Given the description of an element on the screen output the (x, y) to click on. 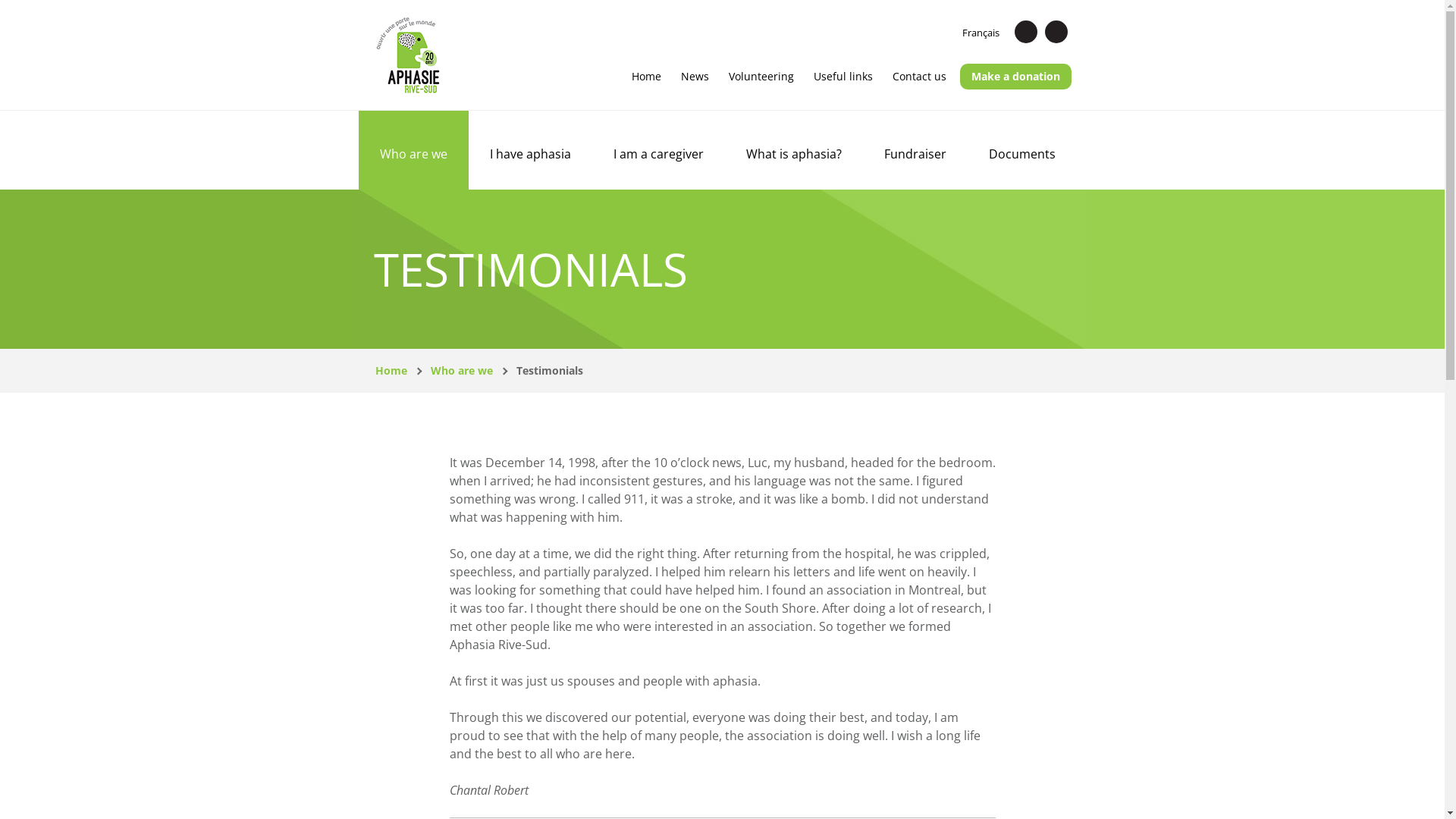
Documents Element type: text (1021, 149)
Home Element type: text (645, 76)
Useful links Element type: text (842, 76)
Who are we Element type: text (412, 149)
  Element type: text (1055, 31)
News Element type: text (694, 76)
What is aphasia? Element type: text (793, 149)
Make a donation Element type: text (1015, 76)
Fundraiser Element type: text (914, 149)
Contact us Element type: text (918, 76)
Who are we Element type: text (461, 370)
Home Element type: text (390, 370)
Volunteering Element type: text (760, 76)
I am a caregiver Element type: text (657, 149)
I have aphasia Element type: text (530, 149)
APHASIE RIVE-SUD Element type: text (407, 54)
  Element type: text (1025, 31)
